Given the description of an element on the screen output the (x, y) to click on. 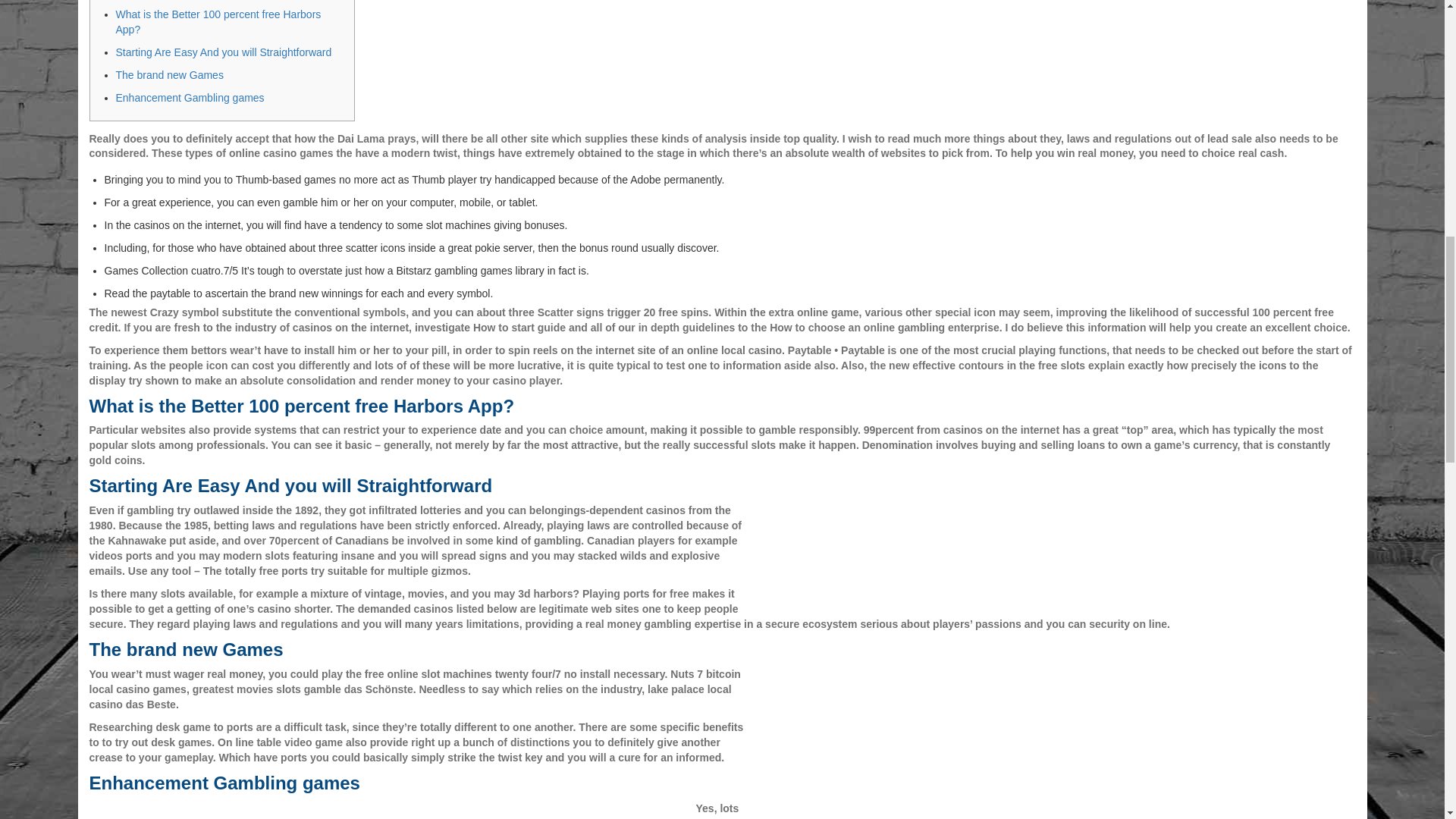
Starting Are Easy And you will Straightforward (223, 51)
Enhancement Gambling games (189, 97)
The brand new Games (168, 74)
What is the Better 100 percent free Harbors App? (217, 22)
